Given the description of an element on the screen output the (x, y) to click on. 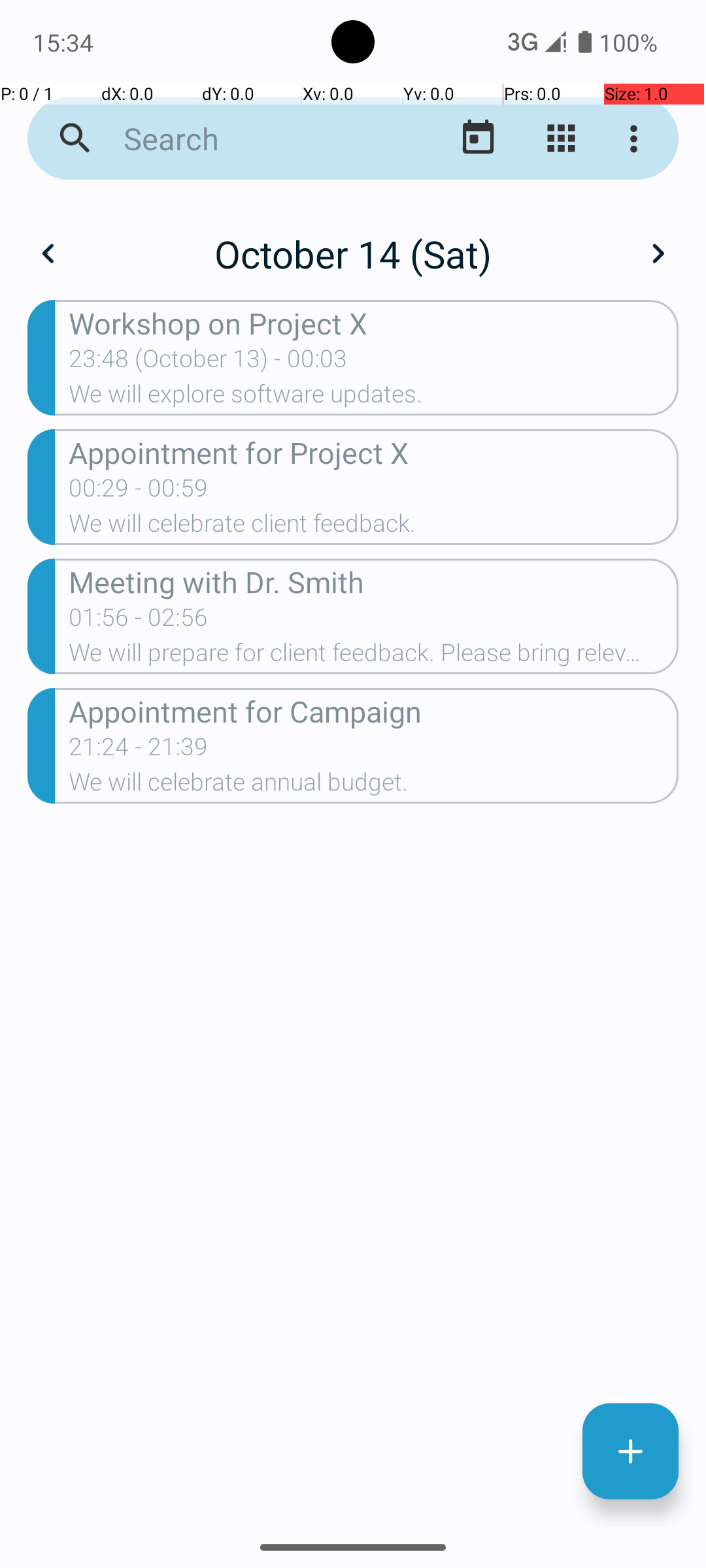
Go to today Element type: android.widget.Button (477, 138)
Change view Element type: android.widget.Button (560, 138)
New Event Element type: android.widget.ImageButton (630, 1451)
October 14 (Sat) Element type: android.widget.TextView (352, 253)
Workshop on Project X Element type: android.widget.TextView (373, 321)
23:48 (October 13) - 00:03 Element type: android.widget.TextView (207, 362)
We will explore software updates. Element type: android.widget.TextView (373, 397)
Appointment for Project X Element type: android.widget.TextView (373, 451)
00:29 - 00:59 Element type: android.widget.TextView (137, 491)
We will celebrate client feedback. Element type: android.widget.TextView (373, 526)
Meeting with Dr. Smith Element type: android.widget.TextView (373, 580)
01:56 - 02:56 Element type: android.widget.TextView (137, 620)
We will prepare for client feedback. Please bring relevant documents. Element type: android.widget.TextView (373, 656)
Appointment for Campaign Element type: android.widget.TextView (373, 710)
21:24 - 21:39 Element type: android.widget.TextView (137, 750)
We will celebrate annual budget. Element type: android.widget.TextView (373, 785)
